Given the description of an element on the screen output the (x, y) to click on. 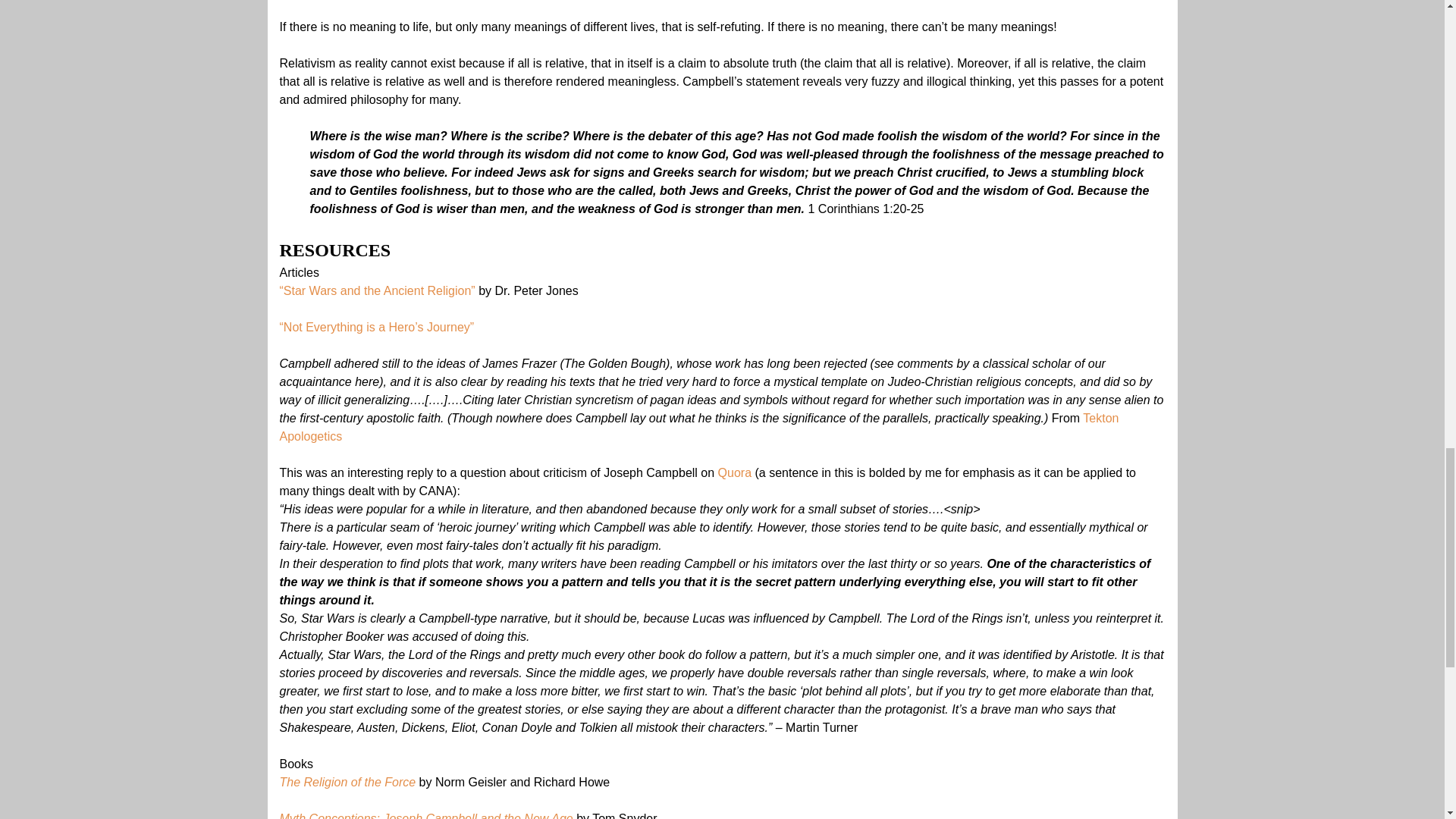
Tekton Apologetics (698, 427)
Myth Conceptions: Joseph Campbell and the New Age (425, 815)
The Religion of the Force (346, 781)
Quora (734, 472)
